Given the description of an element on the screen output the (x, y) to click on. 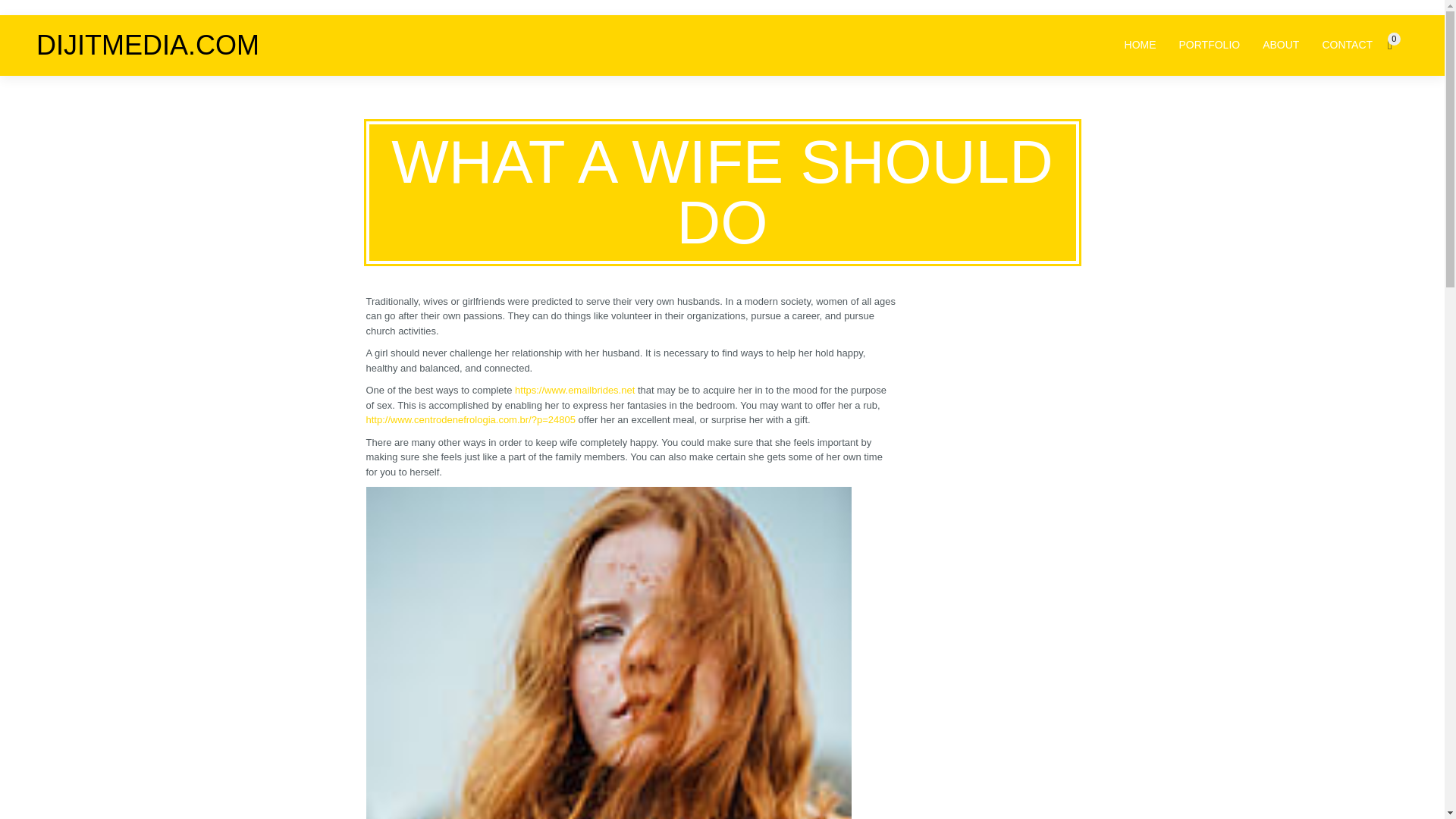
CONTACT (1347, 44)
DIJITMEDIA.COM (147, 44)
PORTFOLIO (1209, 44)
HOME (1140, 44)
0 (1397, 44)
ABOUT (1280, 44)
